Given the description of an element on the screen output the (x, y) to click on. 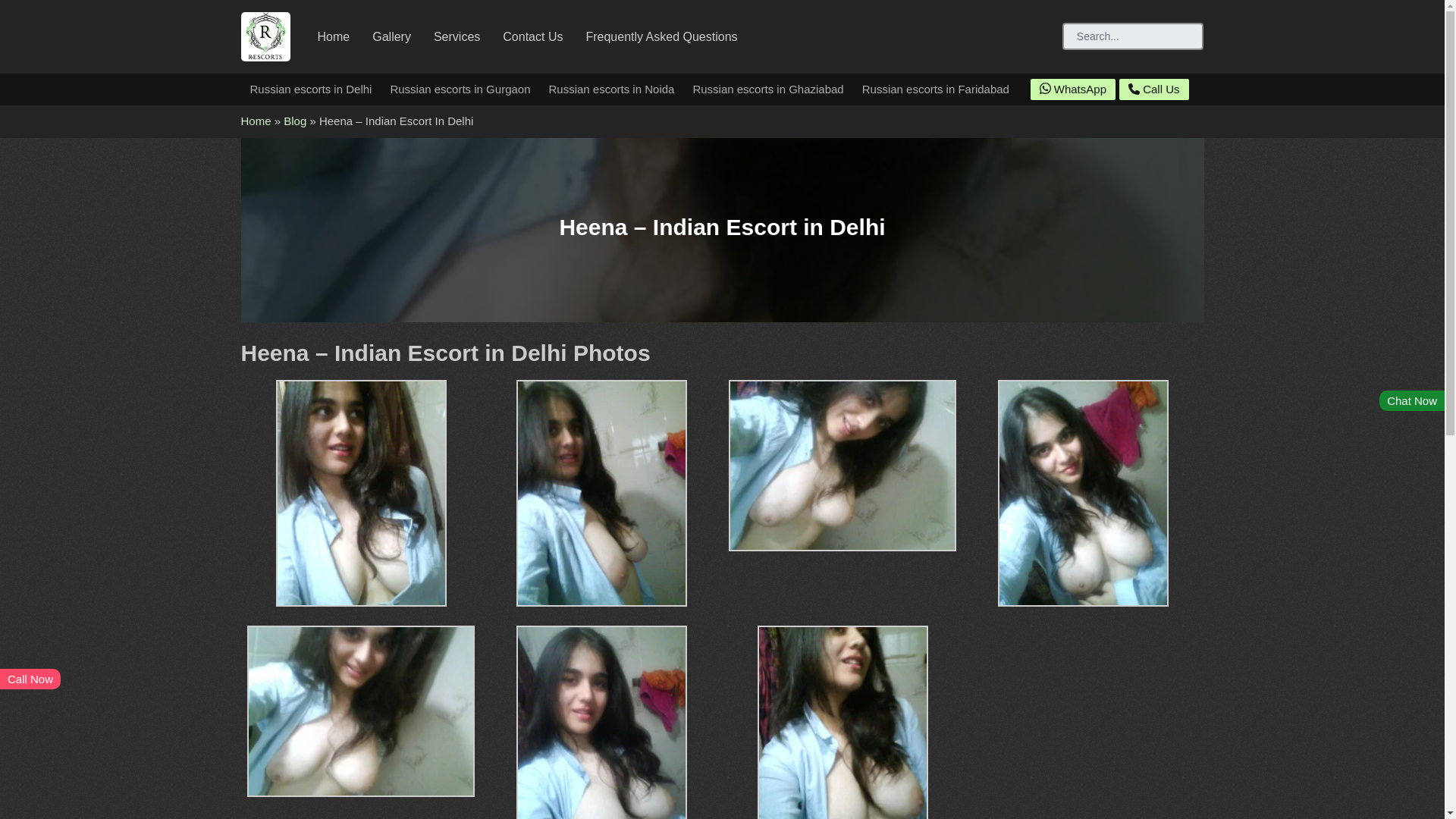
Blog (294, 120)
Gallery (391, 36)
Russian escorts in Delhi (311, 88)
Services (456, 36)
Frequently Asked Questions (660, 36)
Russian escorts in Gurgaon (459, 88)
Russian escorts in Ghaziabad (766, 88)
Russian escorts in Noida (612, 88)
Home (333, 36)
Russian escorts in Gurgaon (459, 88)
